Given the description of an element on the screen output the (x, y) to click on. 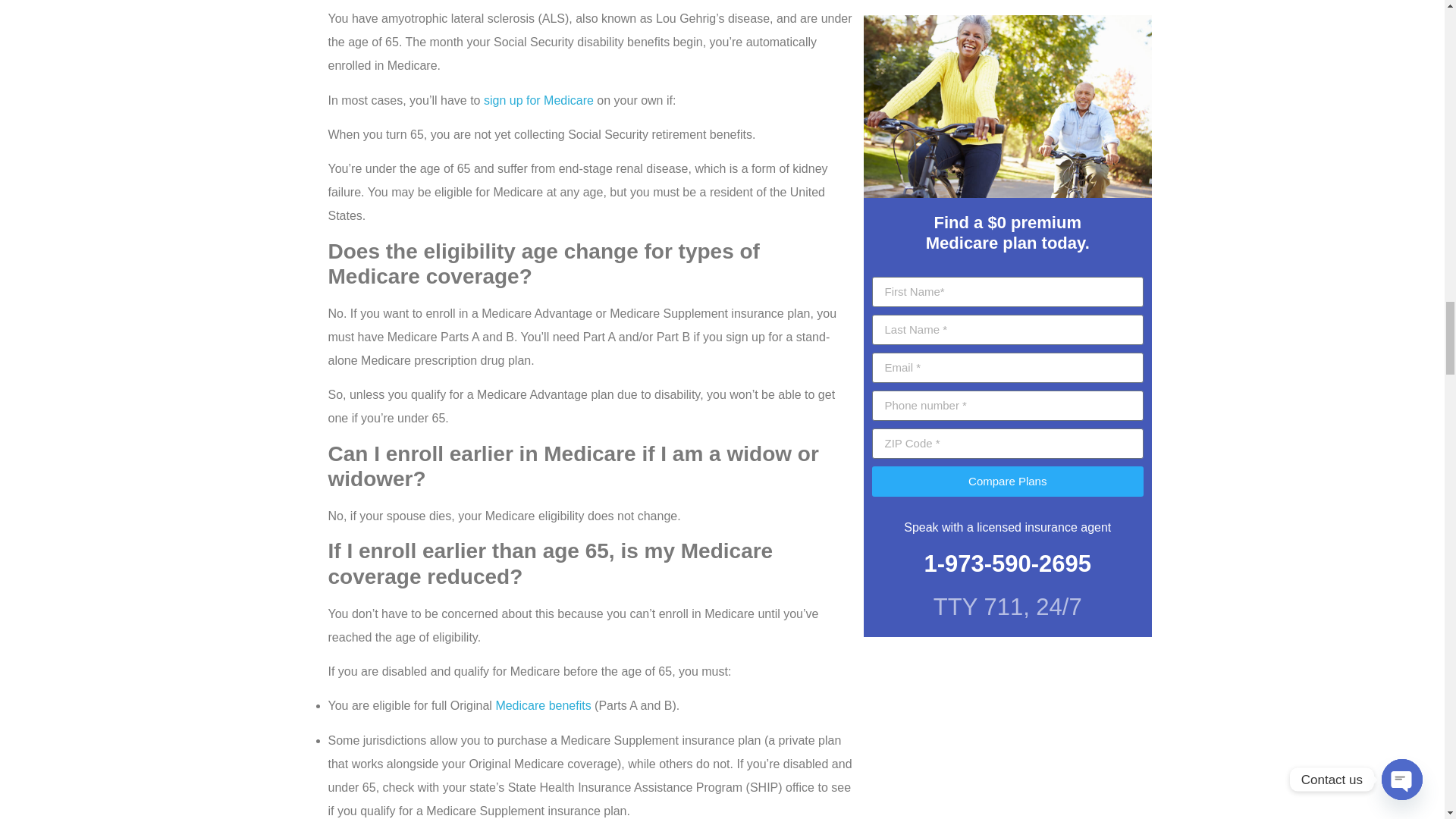
Medicare benefits (543, 705)
sign up for Medicare (538, 100)
